Given the description of an element on the screen output the (x, y) to click on. 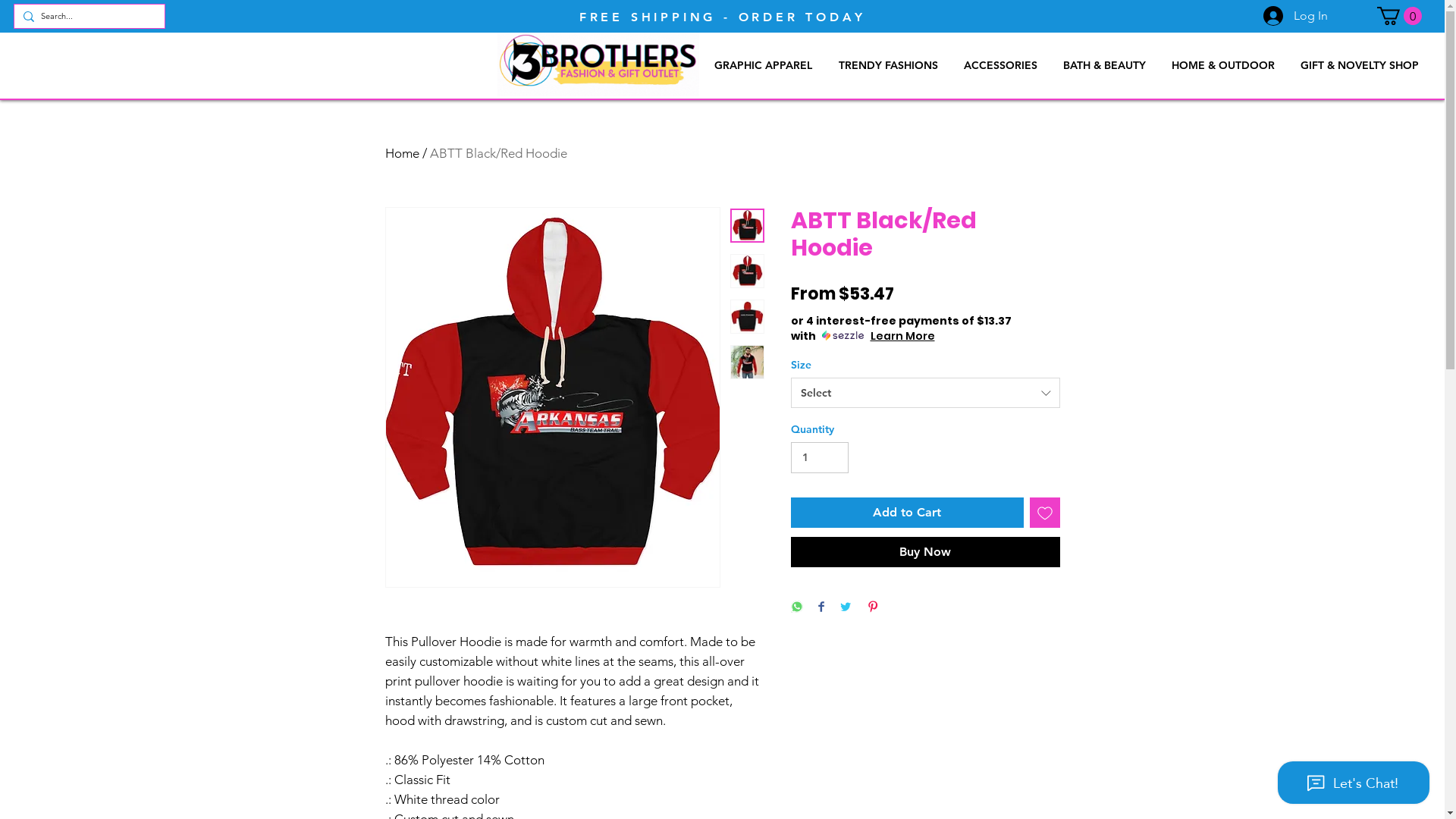
HOME & OUTDOOR Element type: text (1222, 65)
TRENDY FASHIONS Element type: text (887, 65)
ACCESSORIES Element type: text (1000, 65)
Learn More Element type: text (902, 335)
Add to Cart Element type: text (906, 512)
Home Element type: text (402, 152)
0 Element type: text (1399, 15)
GRAPHIC APPAREL Element type: text (762, 65)
GIFT & NOVELTY SHOP Element type: text (1359, 65)
Buy Now Element type: text (924, 551)
Select Element type: text (924, 392)
Log In Element type: text (1295, 15)
BATH & BEAUTY Element type: text (1104, 65)
ABTT Black/Red Hoodie Element type: text (497, 152)
FREE SHIPPING - ORDER TODAY Element type: text (722, 16)
